Given the description of an element on the screen output the (x, y) to click on. 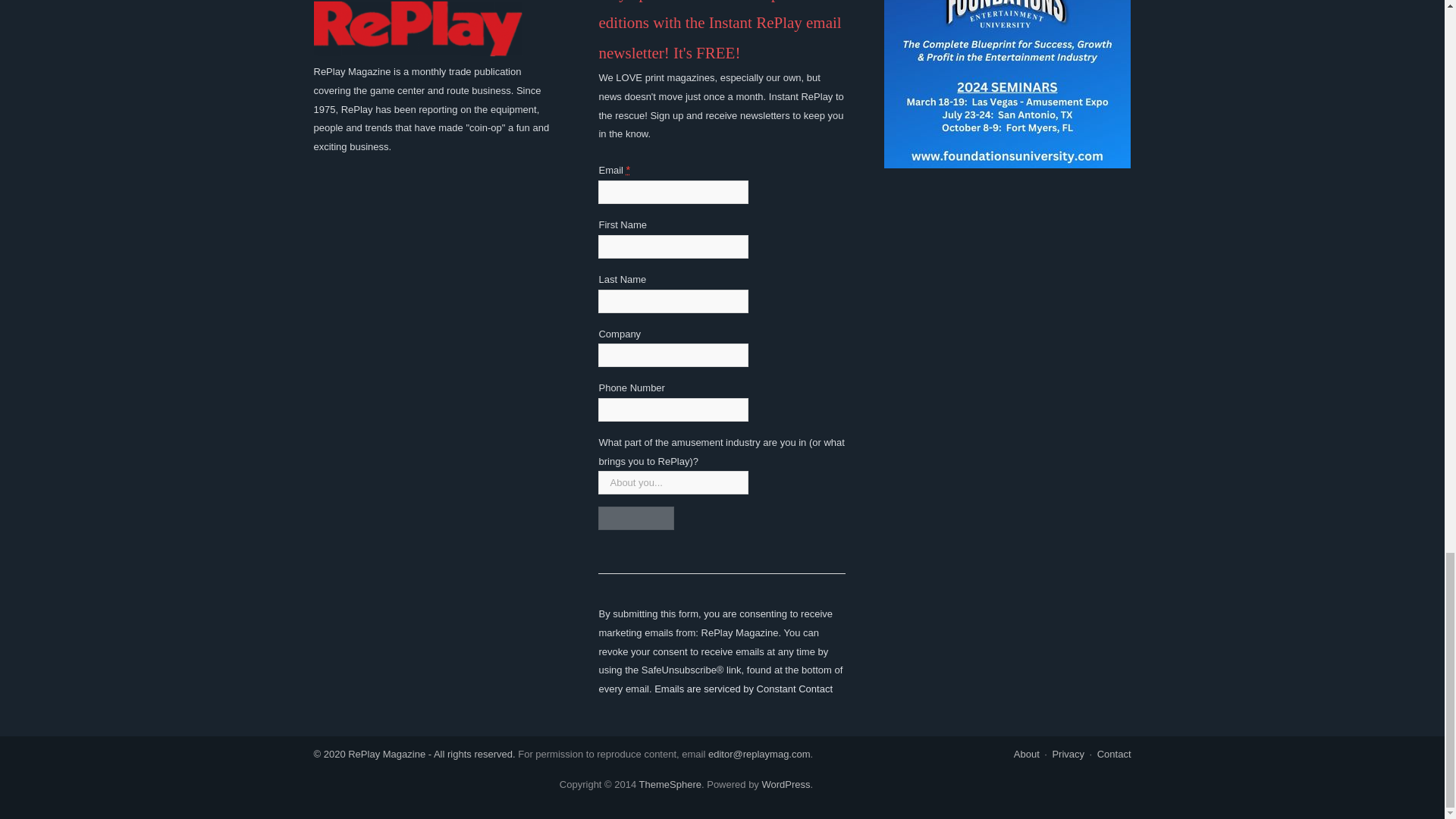
Sign me up! (635, 517)
